Given the description of an element on the screen output the (x, y) to click on. 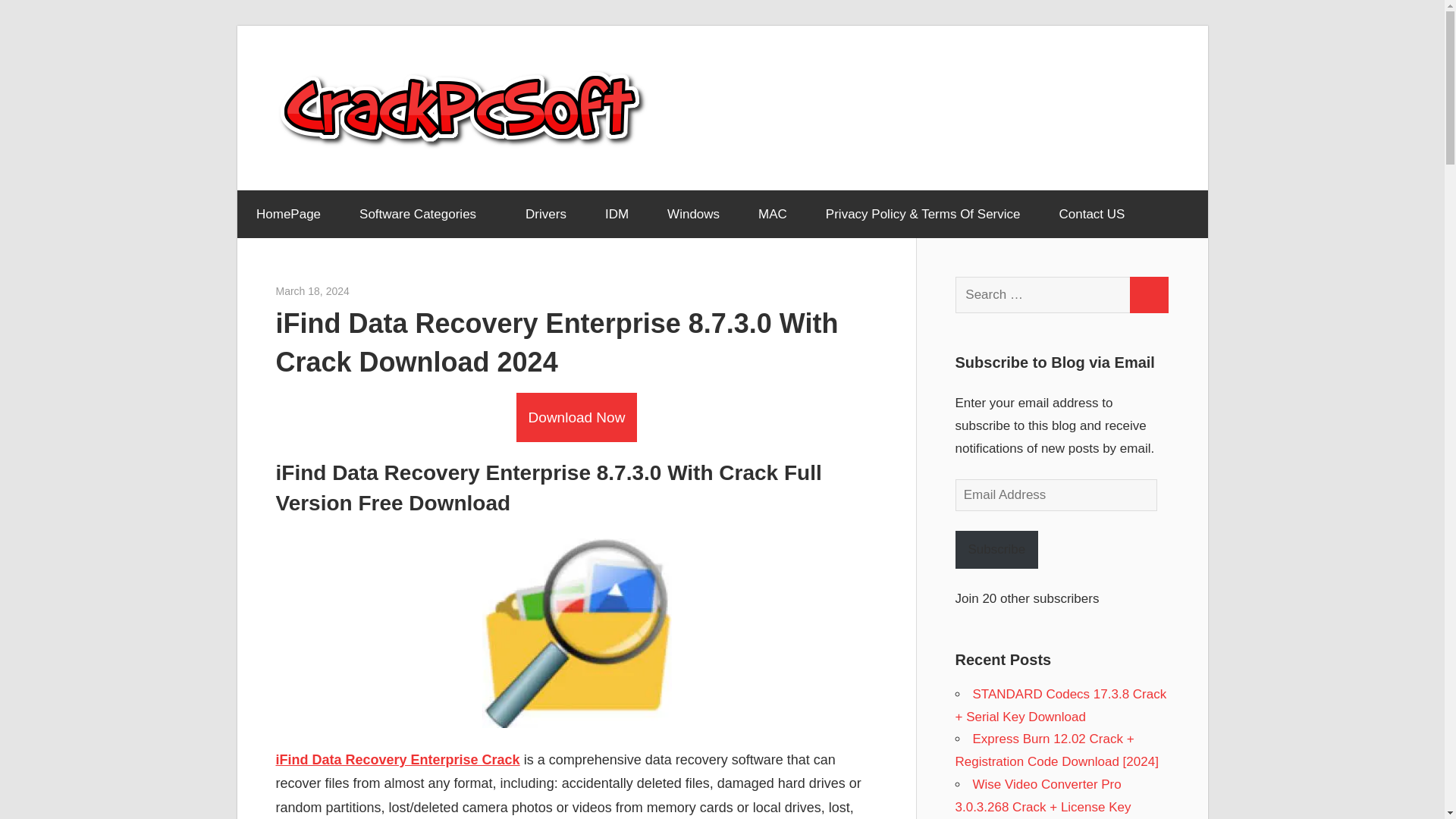
Windows (693, 213)
HomePage (287, 213)
March 18, 2024 (312, 291)
8:37 am (312, 291)
Download Now (576, 417)
Contact US (1091, 213)
IDM (616, 213)
iFind Data Recovery Enterprise Crack (397, 759)
abihaadmin (376, 291)
View all posts by abihaadmin (376, 291)
MAC (772, 213)
Software Categories (423, 213)
Drivers (546, 213)
Download Now (576, 417)
